Given the description of an element on the screen output the (x, y) to click on. 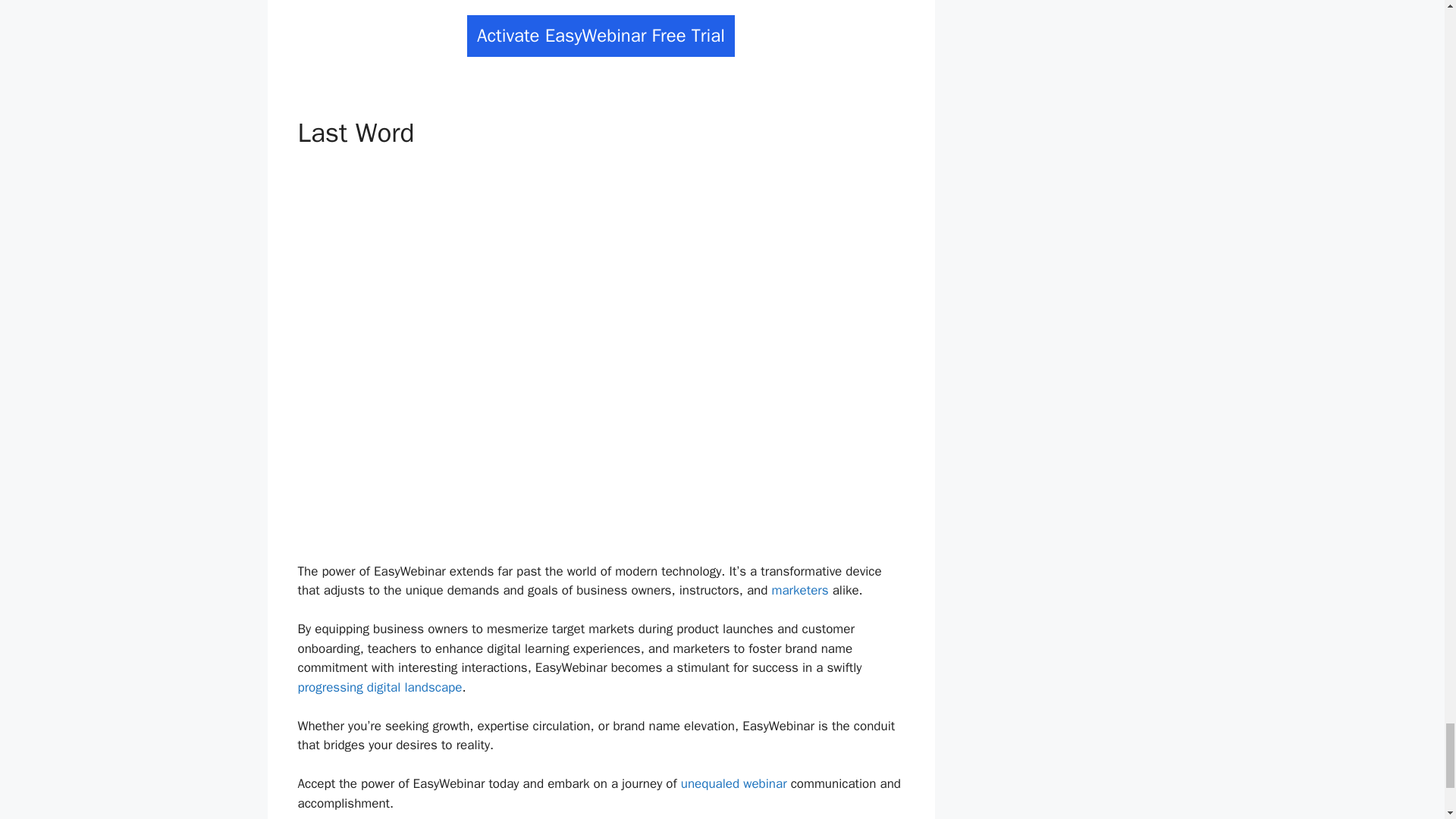
Activate EasyWebinar Free Trial (601, 35)
marketers (799, 590)
progressing digital landscape (379, 687)
unequaled webinar (734, 783)
